Given the description of an element on the screen output the (x, y) to click on. 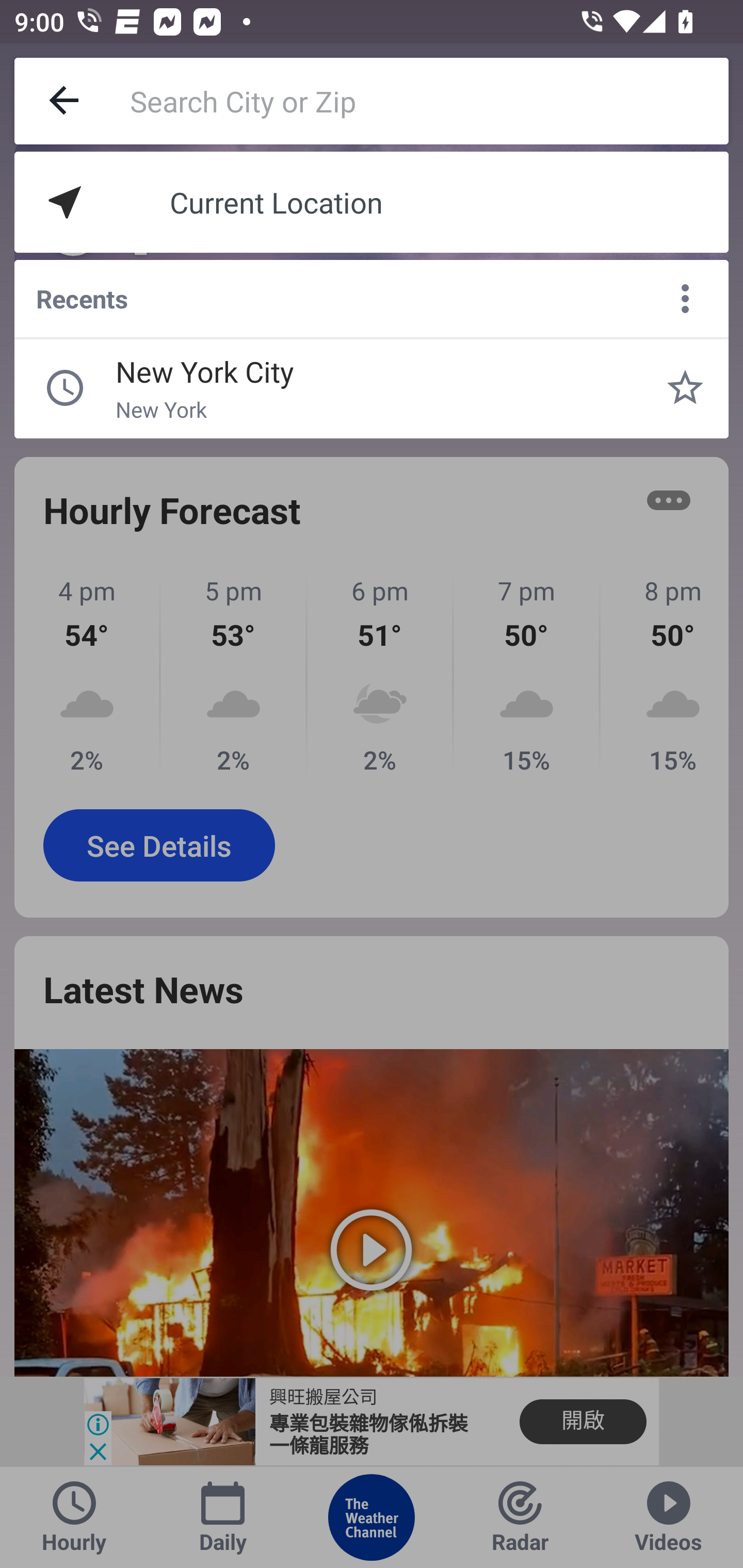
Back (64, 101)
Search City or Zip (429, 100)
Current Location (371, 202)
more (685, 298)
New York City New York Add to favorites (684, 387)
